Given the description of an element on the screen output the (x, y) to click on. 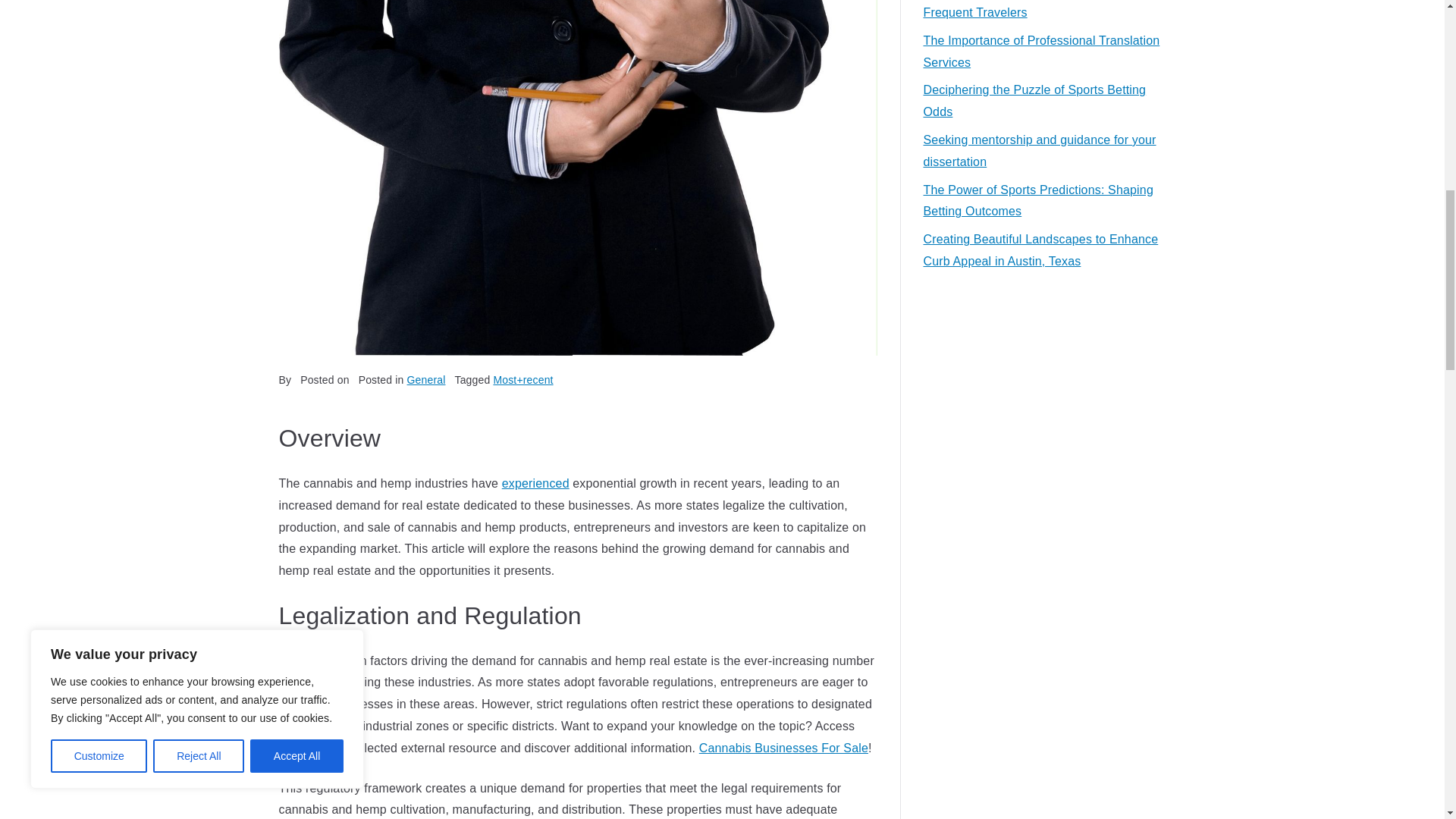
experienced (535, 482)
Cannabis Businesses For Sale (782, 748)
General (426, 379)
